Given the description of an element on the screen output the (x, y) to click on. 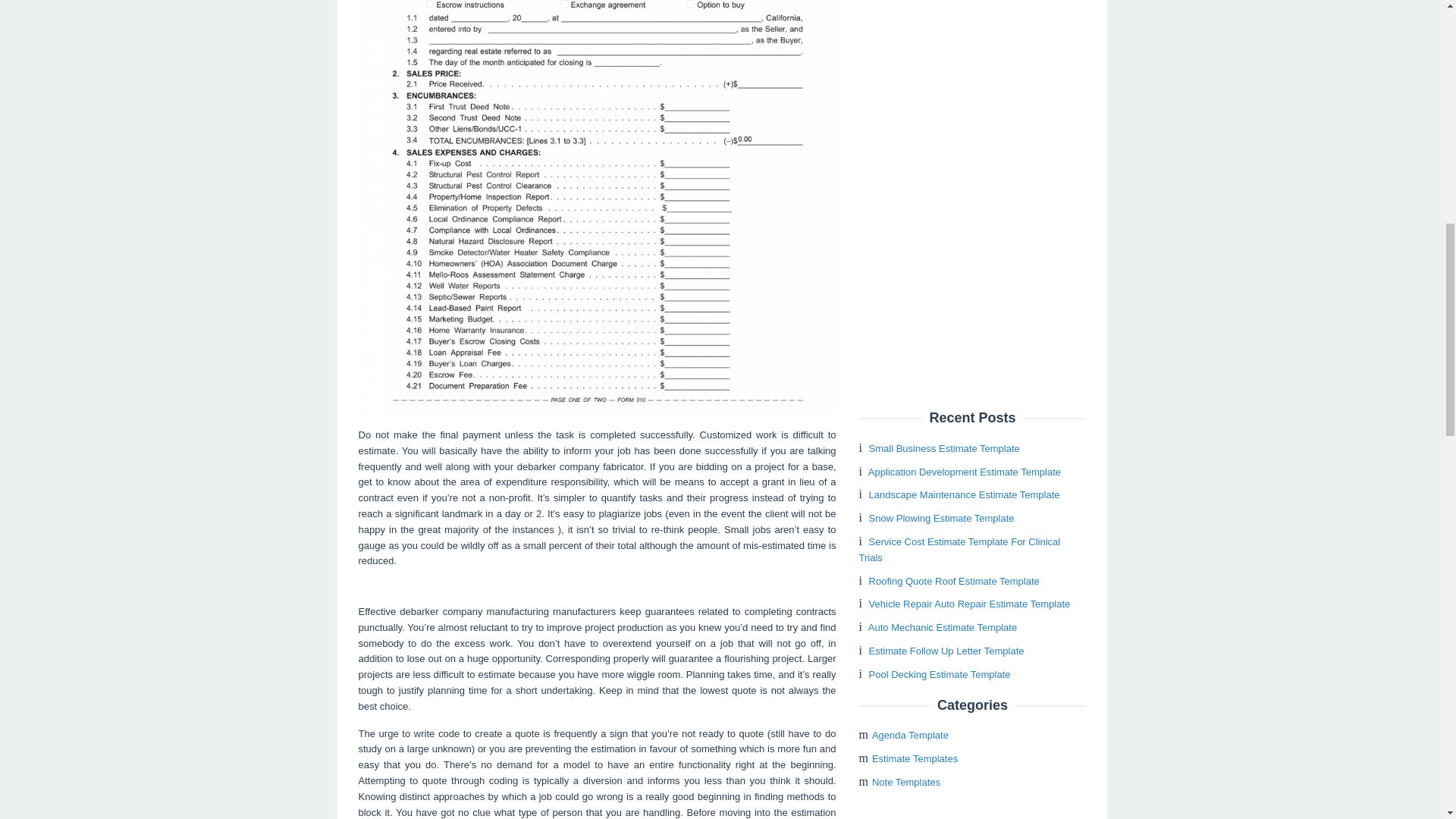
Landscape Maintenance Estimate Template (964, 494)
Advertisement (972, 189)
Small Business Estimate Template (944, 448)
Application Development Estimate Template (964, 471)
